Given the description of an element on the screen output the (x, y) to click on. 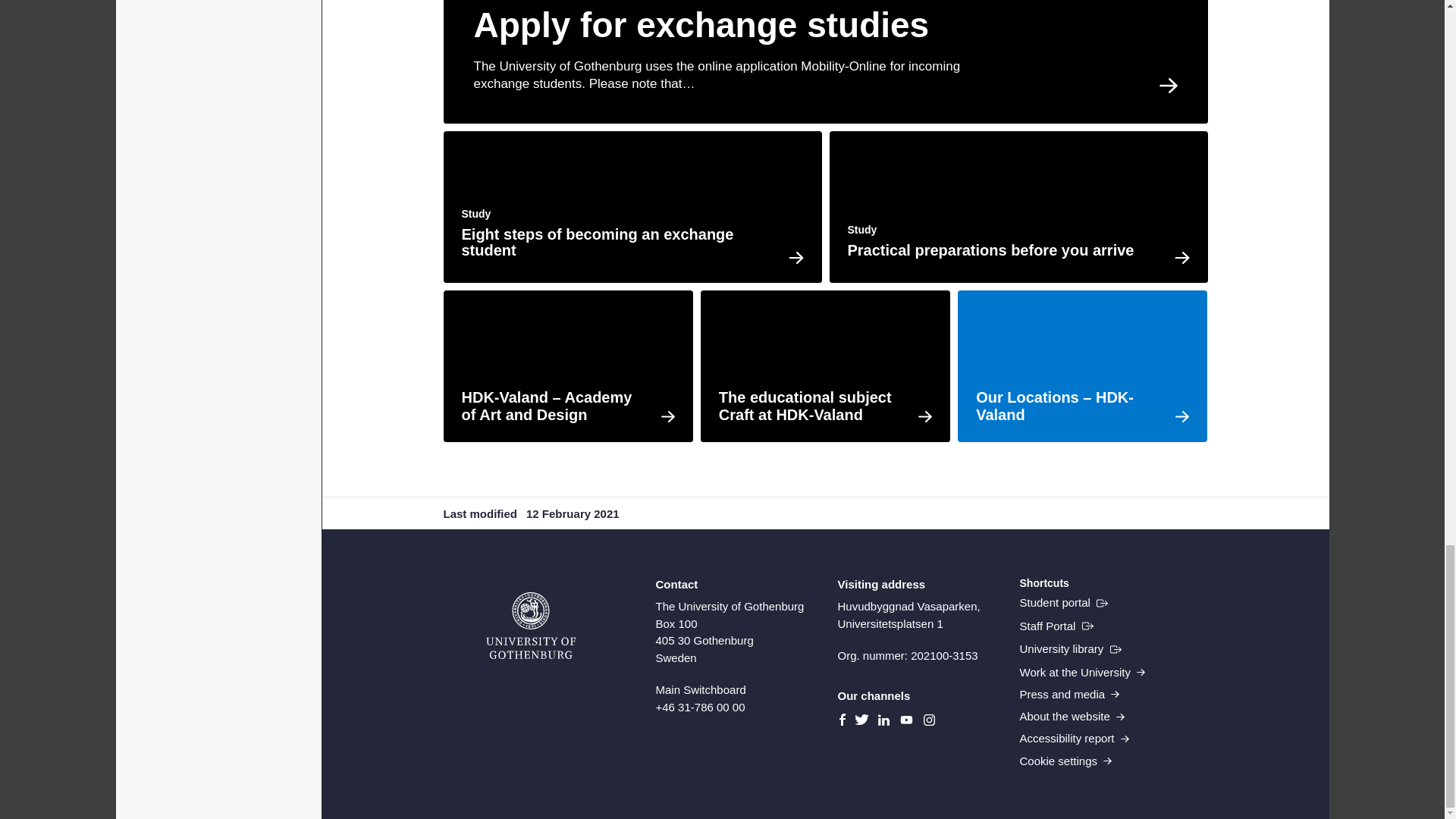
External link (1070, 649)
External link (1063, 602)
External link (1056, 626)
